Given the description of an element on the screen output the (x, y) to click on. 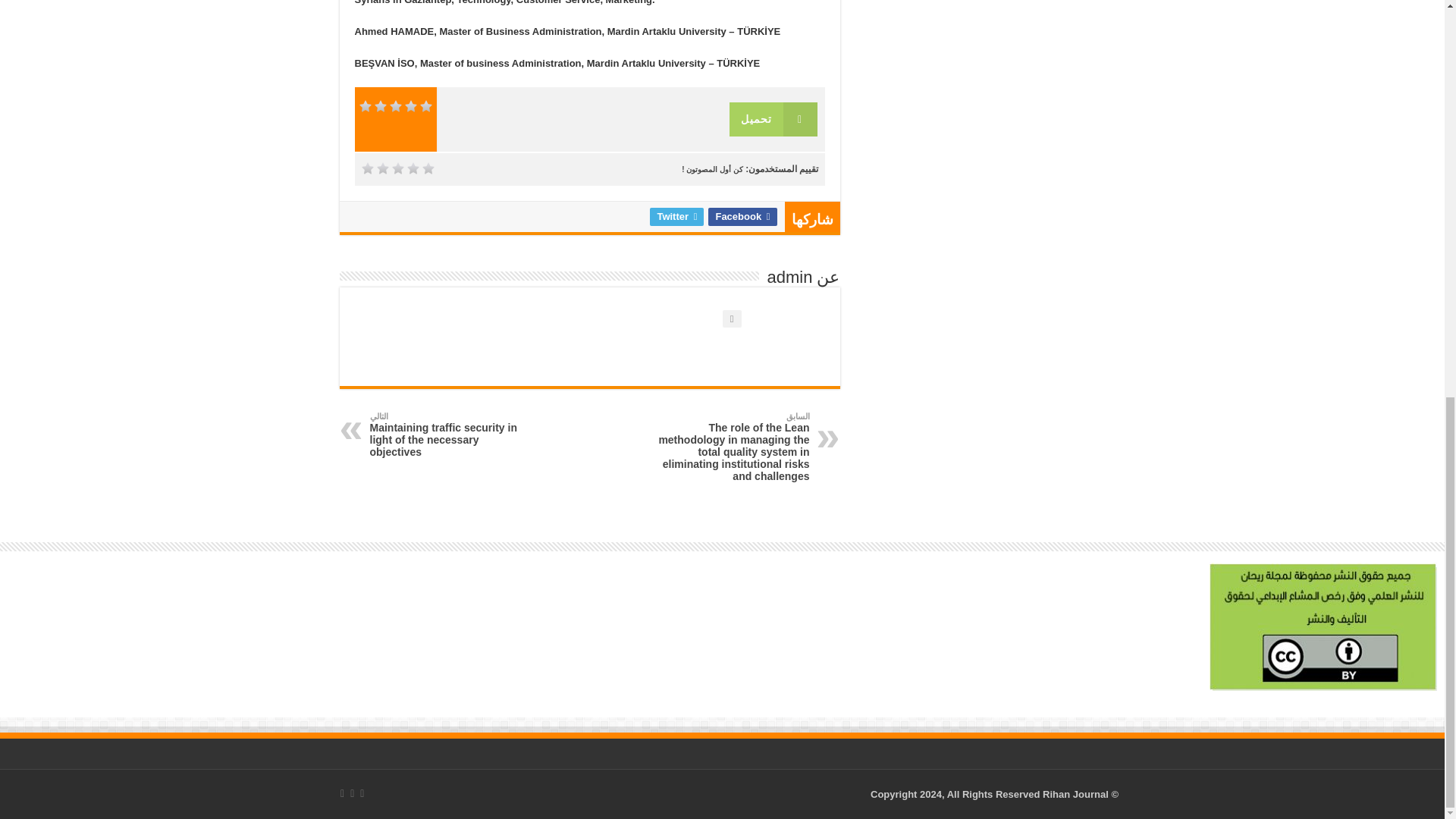
LinkedIn (342, 793)
Rss (361, 793)
Facebook (352, 793)
